Given the description of an element on the screen output the (x, y) to click on. 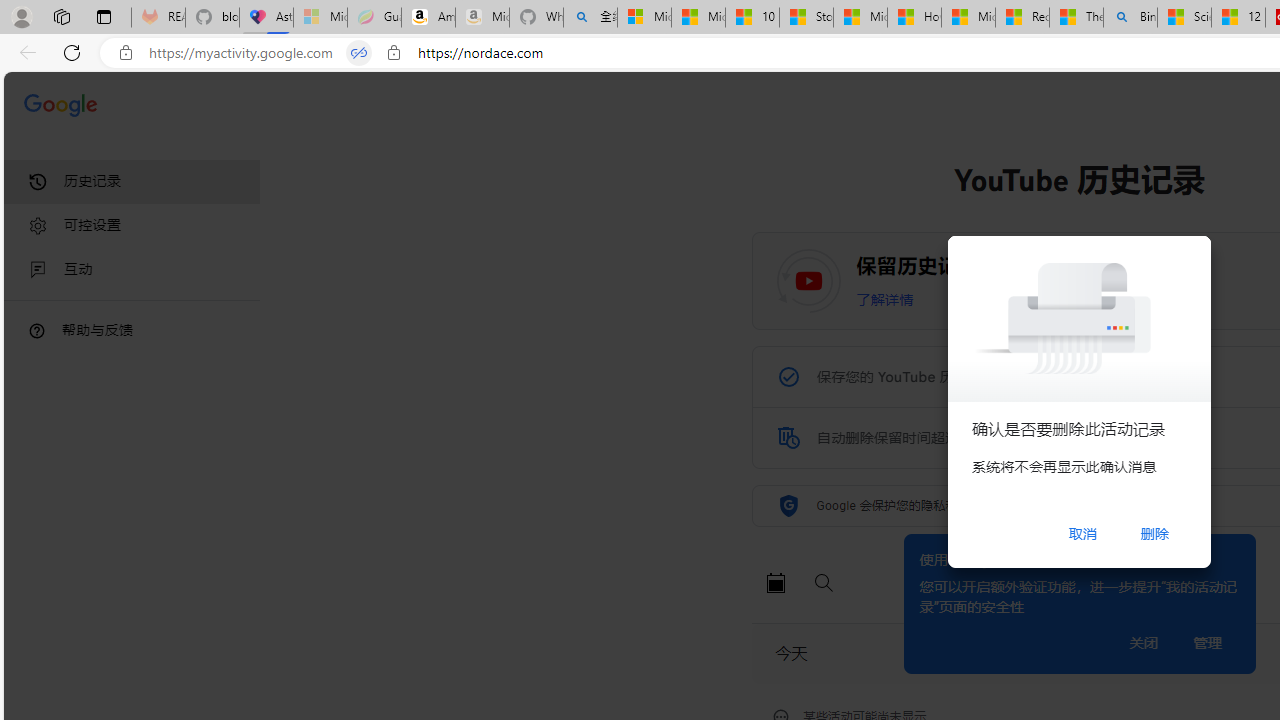
12 Popular Science Lies that Must be Corrected (1238, 17)
Recipes - MSN (1022, 17)
How I Got Rid of Microsoft Edge's Unnecessary Features (914, 17)
